Given the description of an element on the screen output the (x, y) to click on. 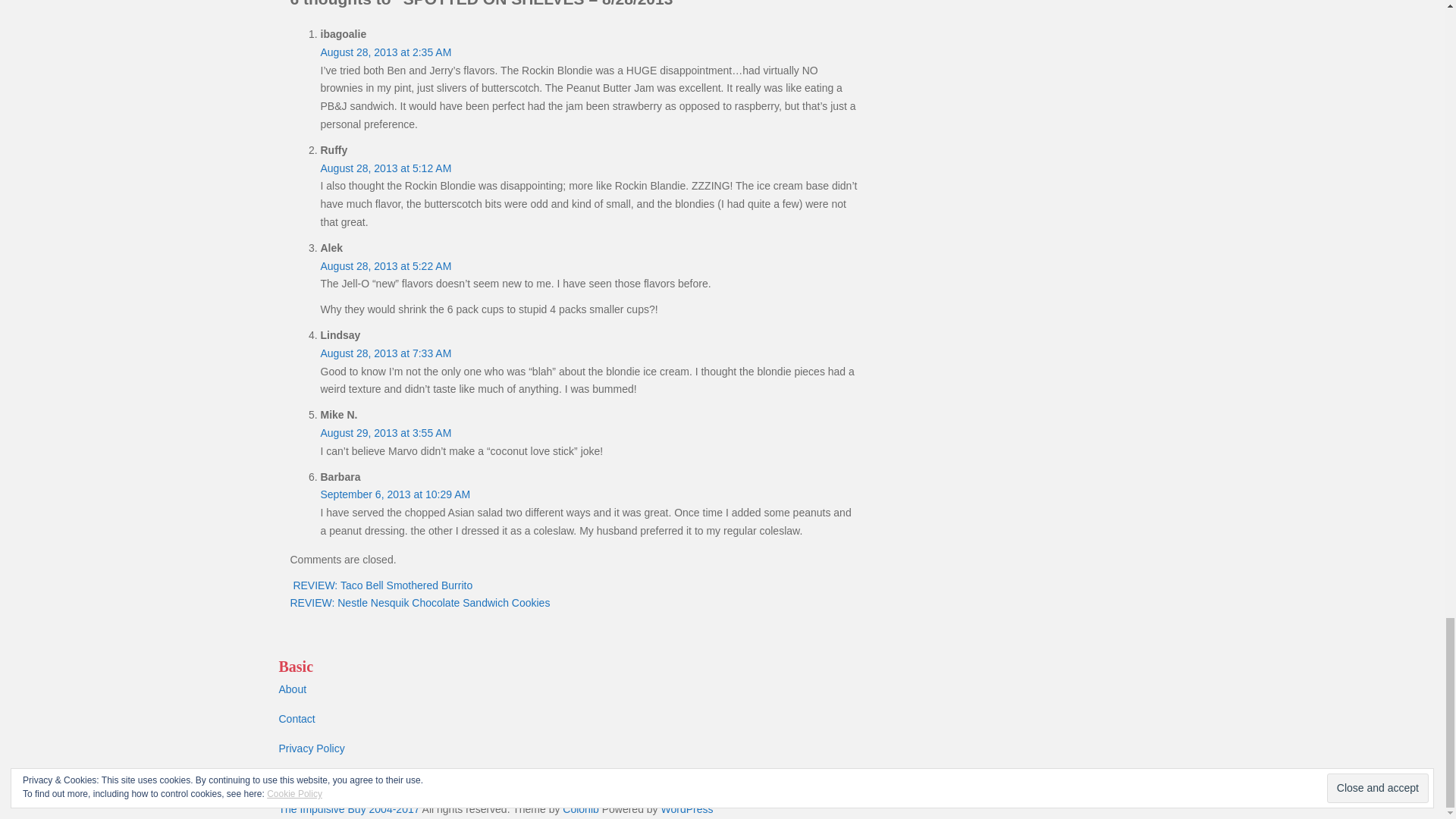
August 28, 2013 at 5:22 AM (385, 265)
August 28, 2013 at 7:33 AM (385, 353)
REVIEW: Taco Bell Smothered Burrito (380, 585)
August 28, 2013 at 2:35 AM (385, 51)
August 28, 2013 at 5:12 AM (385, 168)
August 29, 2013 at 3:55 AM (385, 432)
REVIEW: Nestle Nesquik Chocolate Sandwich Cookies (421, 603)
September 6, 2013 at 10:29 AM (395, 494)
